Given the description of an element on the screen output the (x, y) to click on. 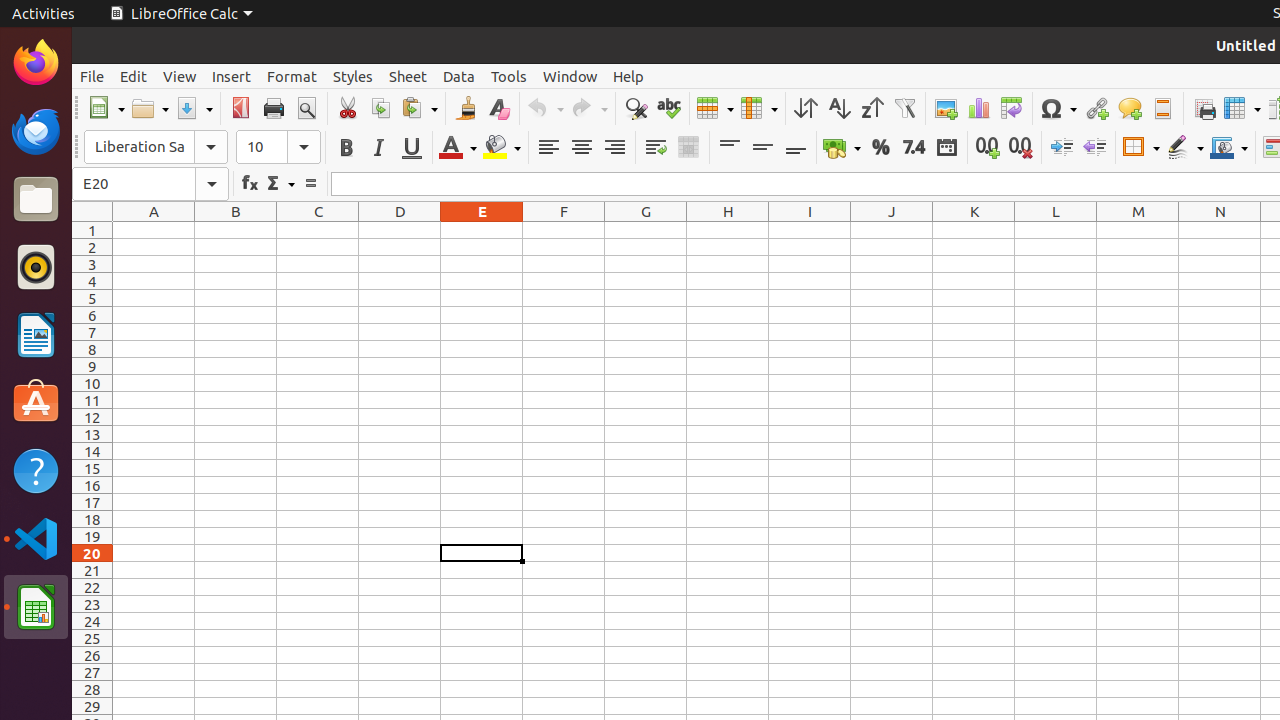
Redo Element type: push-button (589, 108)
H1 Element type: table-cell (728, 230)
Thunderbird Mail Element type: push-button (36, 131)
Hyperlink Element type: toggle-button (1096, 108)
Print Area Element type: push-button (1203, 108)
